Given the description of an element on the screen output the (x, y) to click on. 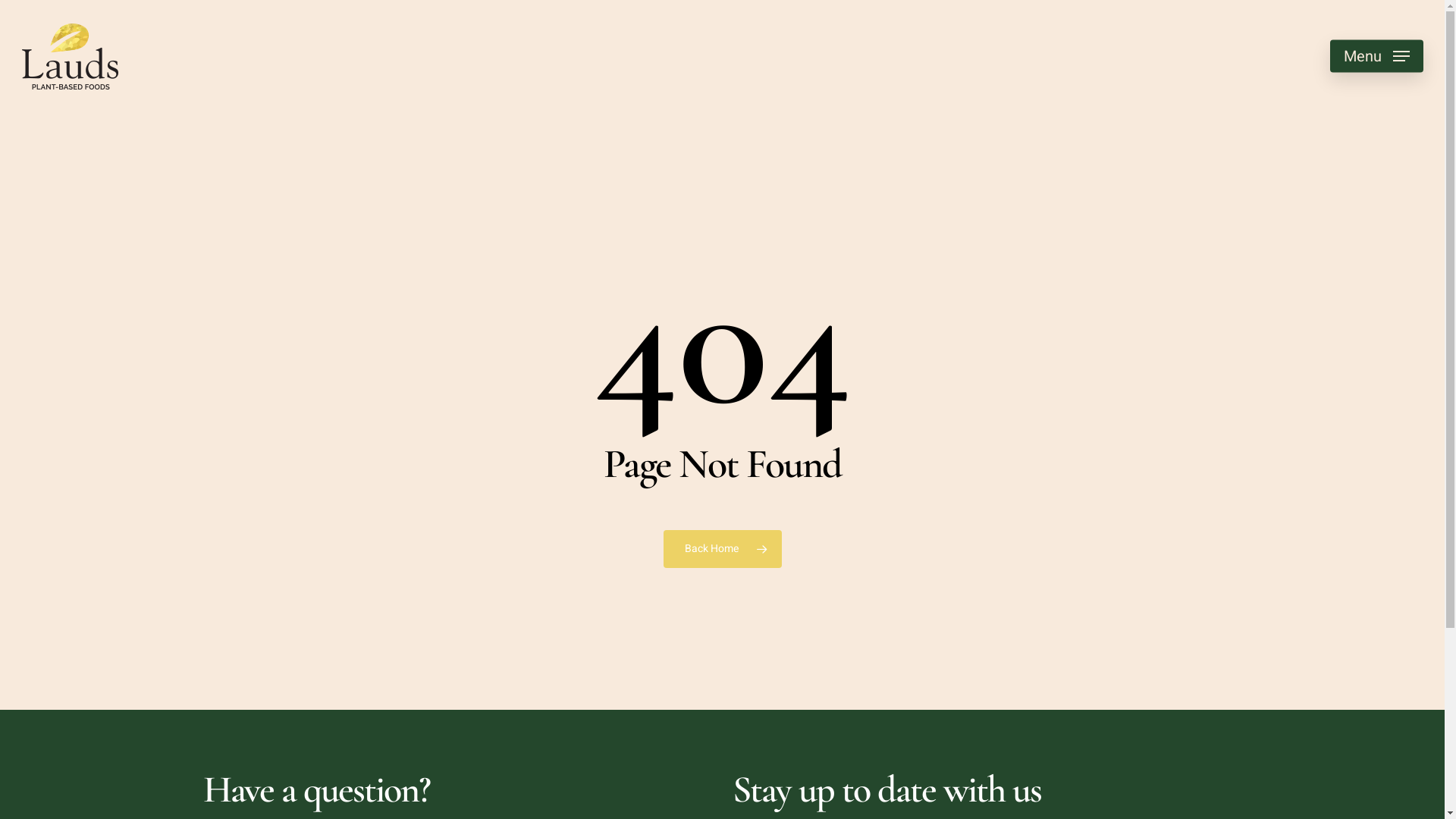
Menu Element type: text (1376, 56)
Back Home Element type: text (721, 548)
